Given the description of an element on the screen output the (x, y) to click on. 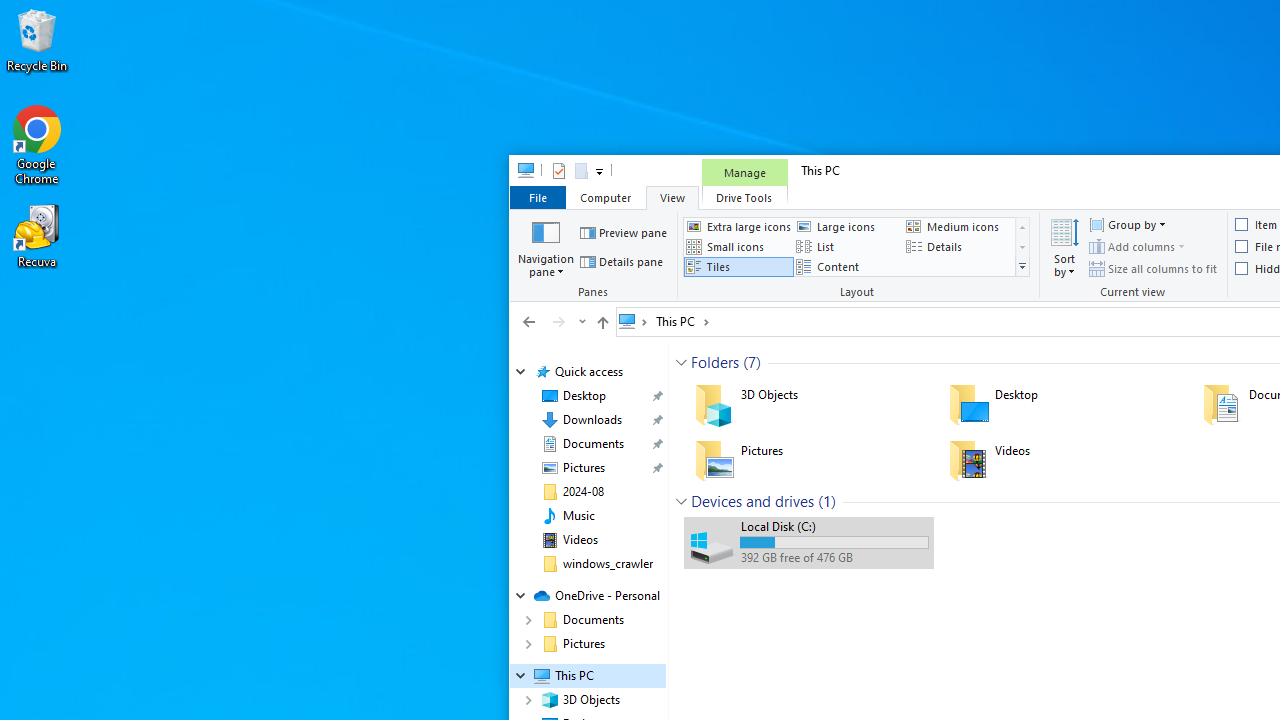
System (520, 173)
Downloads (pinned) (592, 420)
Quick Access Toolbar (569, 170)
Large icons (848, 226)
Group by (1126, 224)
File tab (537, 196)
Sort by (1064, 246)
Extra large icons (738, 226)
Details (958, 246)
Tiles (738, 267)
Videos (580, 539)
Back to Local Disk (C:) (Alt + Left Arrow) (529, 321)
Up to "Desktop" (Alt + Up Arrow) (602, 322)
Desktop (pinned) (584, 395)
